Given the description of an element on the screen output the (x, y) to click on. 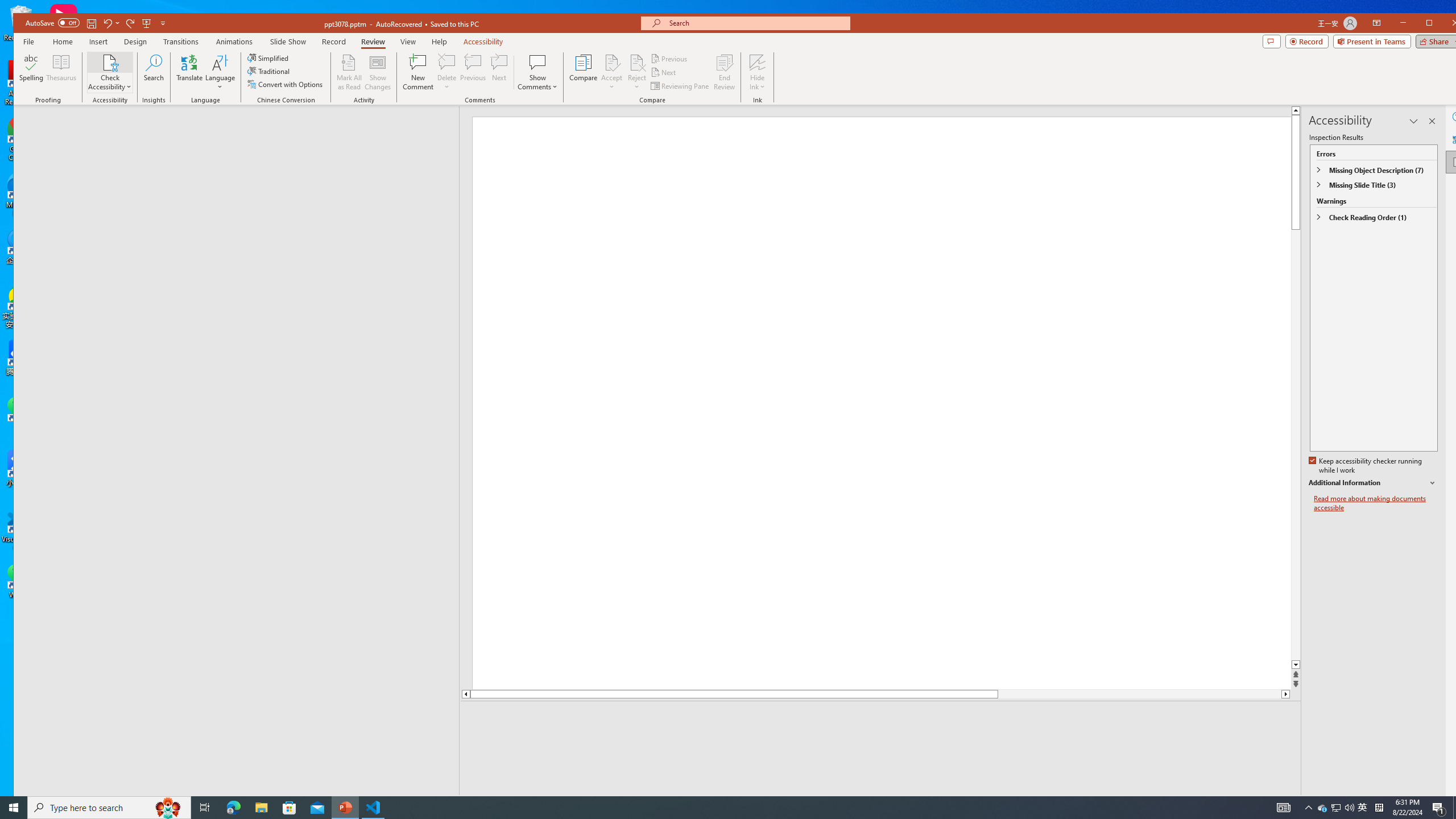
End Review (723, 72)
Mark All as Read (349, 72)
Accept Change (611, 61)
